Given the description of an element on the screen output the (x, y) to click on. 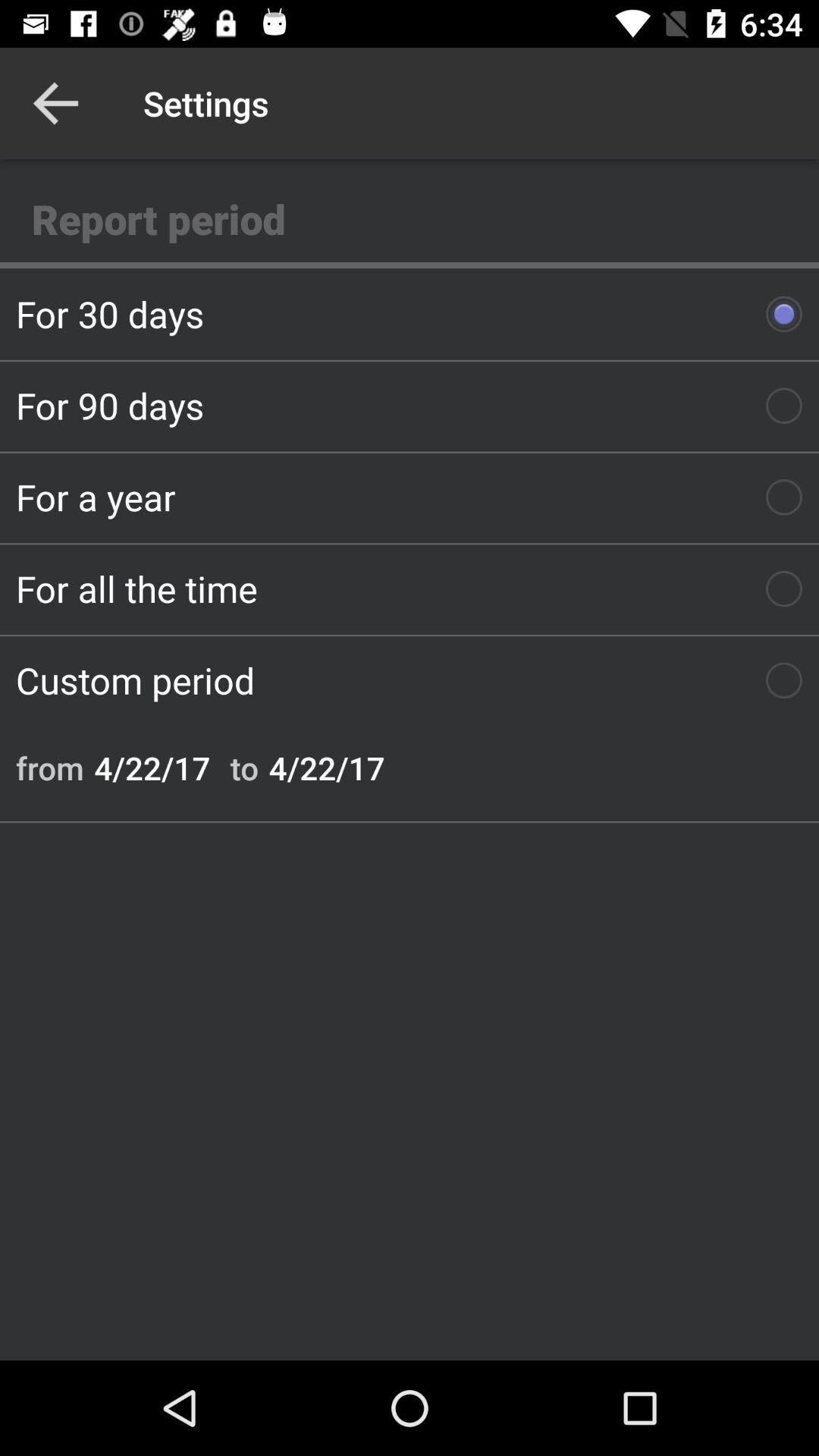
choose the icon to the left of 4/22/17 icon (244, 767)
